Given the description of an element on the screen output the (x, y) to click on. 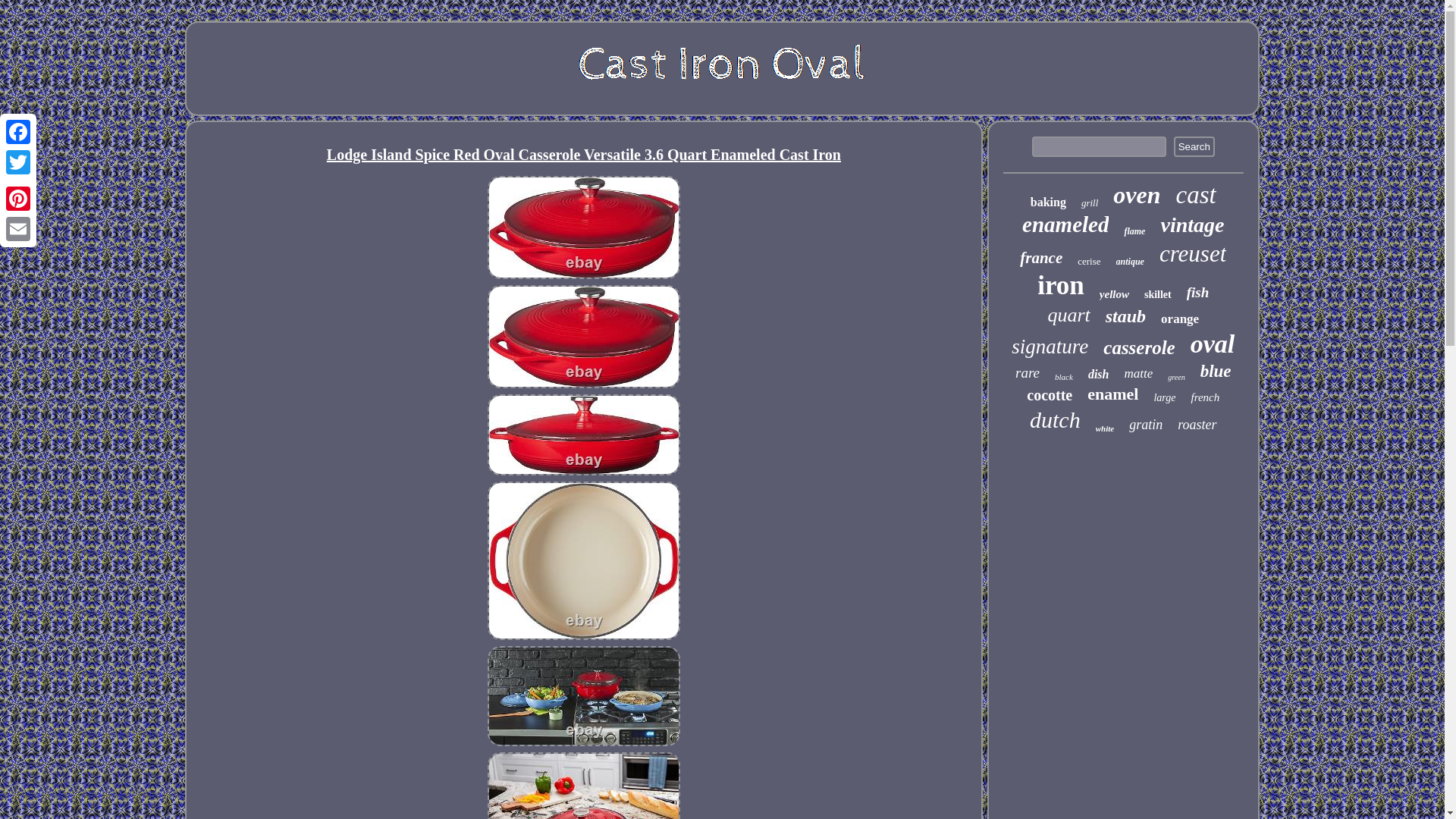
Search (1193, 146)
flame (1134, 231)
baking (1047, 202)
grill (1089, 203)
oven (1136, 194)
Twitter (17, 162)
iron (1060, 286)
enameled (1065, 224)
cast (1195, 194)
cerise (1088, 261)
Pinterest (17, 198)
Search (1193, 146)
